Given the description of an element on the screen output the (x, y) to click on. 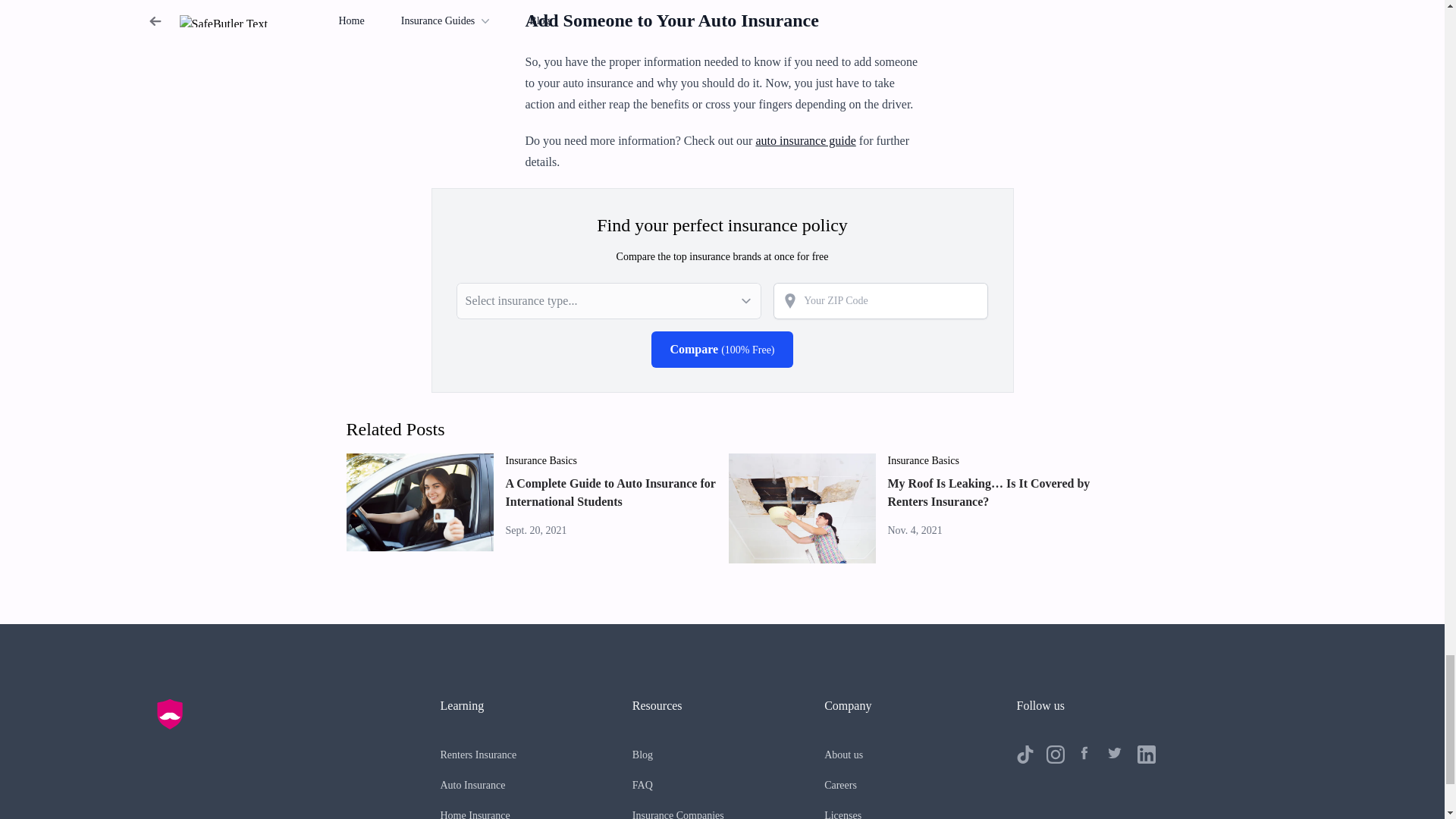
Follow us on TikTok (1024, 754)
auto insurance guide (805, 140)
Follow us on Twitter (1115, 754)
Renters Insurance (477, 754)
Follow us on Facebook (1085, 754)
Please choose an insurance type (609, 300)
Follow us on LinkedIn (1146, 754)
Follow us on Instagram (1055, 754)
Auto Insurance (472, 785)
